Given the description of an element on the screen output the (x, y) to click on. 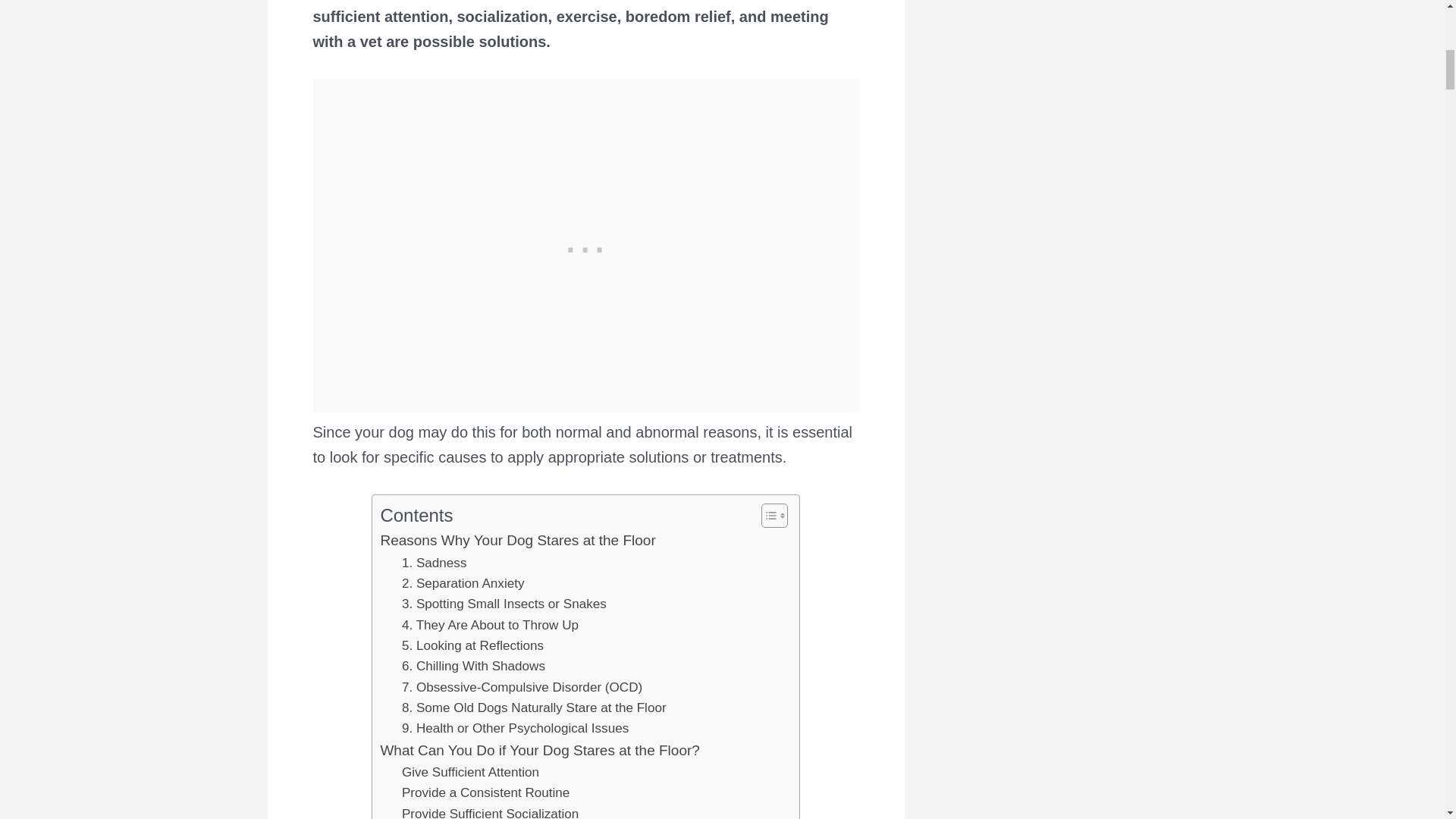
What Can You Do if Your Dog Stares at the Floor? (539, 750)
4. They Are About to Throw Up (489, 625)
3. Spotting Small Insects or Snakes (504, 603)
Give Sufficient Attention (469, 772)
6. Chilling With Shadows (472, 666)
3. Spotting Small Insects or Snakes (504, 603)
Reasons Why Your Dog Stares at the Floor (517, 540)
4. They Are About to Throw Up (489, 625)
2. Separation Anxiety (462, 583)
8. Some Old Dogs Naturally Stare at the Floor (533, 707)
9. Health or Other Psychological Issues (514, 728)
5. Looking at Reflections (472, 645)
Give Sufficient Attention (469, 772)
Reasons Why Your Dog Stares at the Floor (517, 540)
8. Some Old Dogs Naturally Stare at the Floor (533, 707)
